Given the description of an element on the screen output the (x, y) to click on. 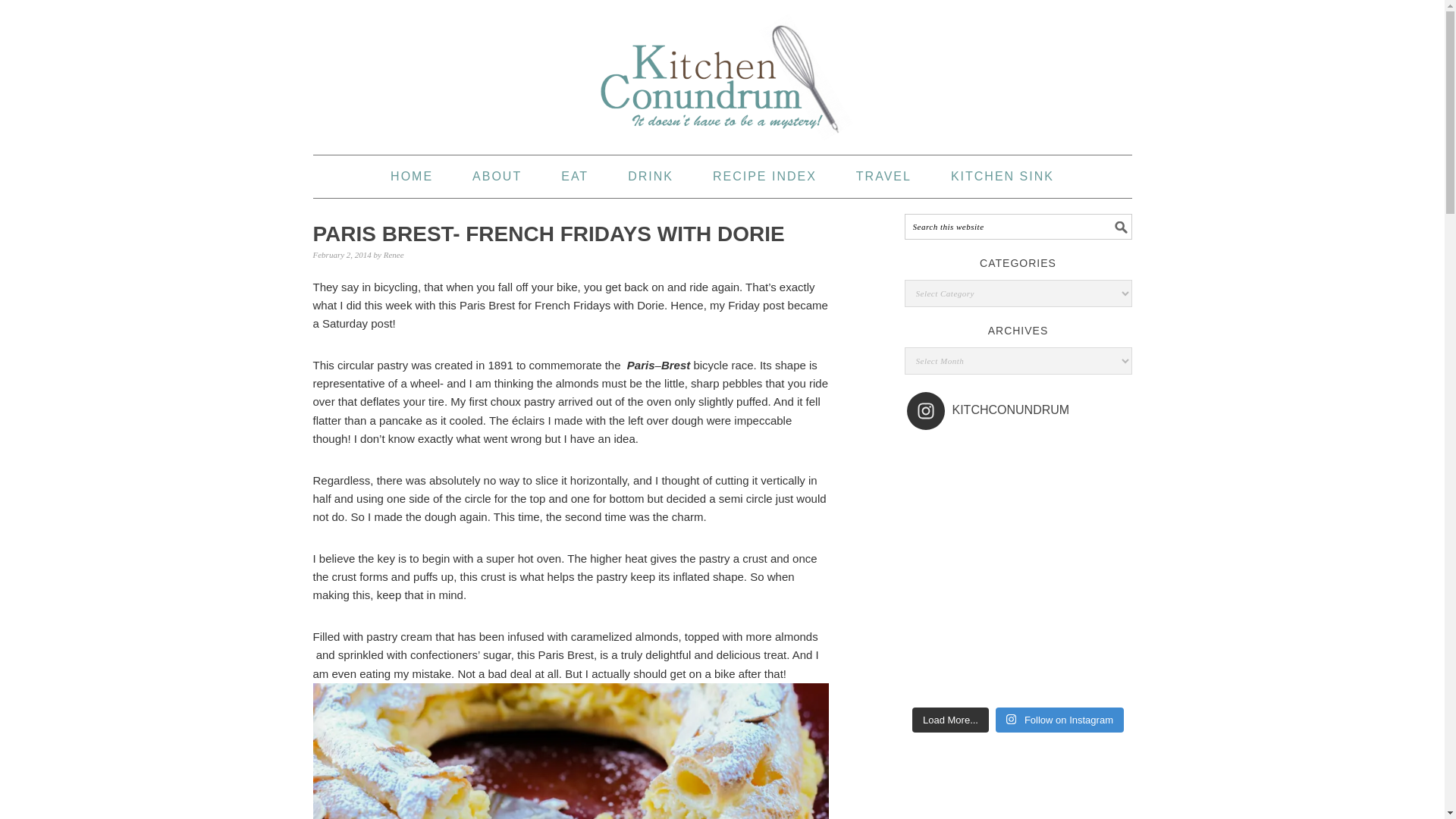
TRAVEL (883, 176)
EAT (574, 176)
HOME (411, 176)
RECIPE INDEX (764, 176)
KITCHEN CONUNDRUM (722, 77)
Renee (394, 254)
DRINK (650, 176)
ABOUT (496, 176)
